Given the description of an element on the screen output the (x, y) to click on. 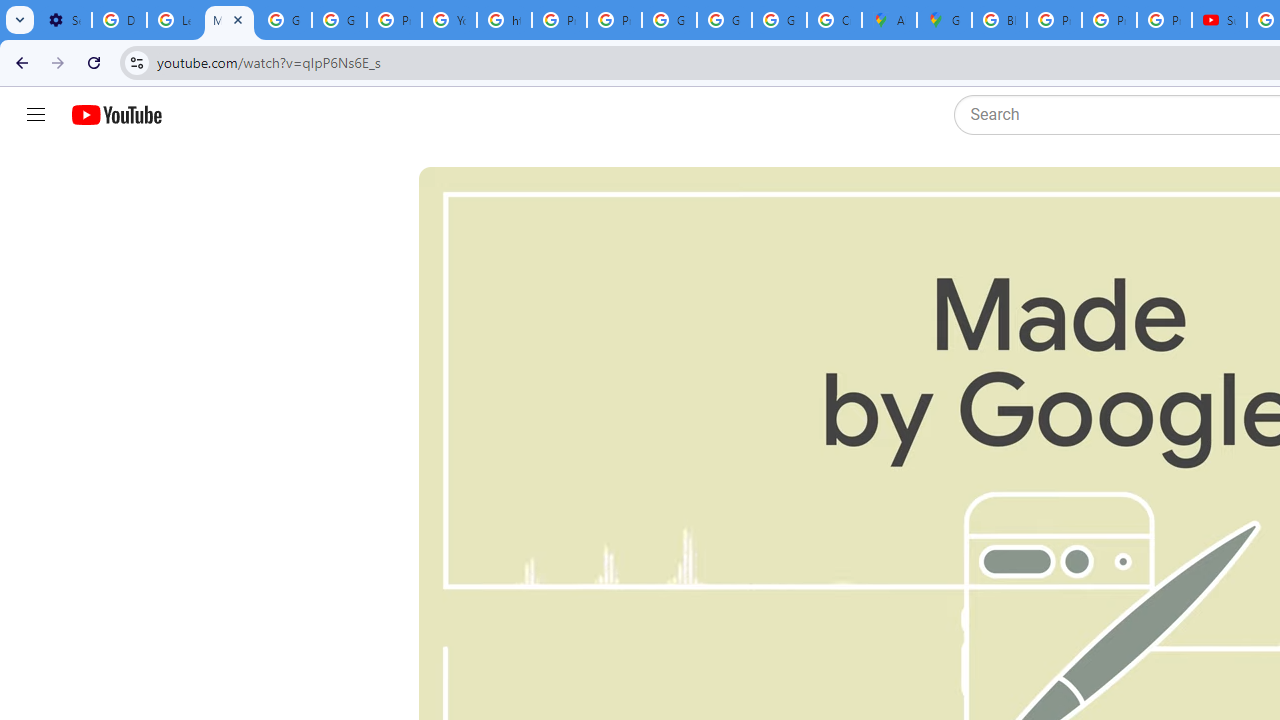
Guide (35, 115)
YouTube (449, 20)
Privacy Help Center - Policies Help (1108, 20)
YouTube Home (116, 115)
Privacy Help Center - Policies Help (394, 20)
Learn how to find your photos - Google Photos Help (174, 20)
Settings - Customize profile (64, 20)
Privacy Help Center - Policies Help (559, 20)
Google Maps (943, 20)
